Given the description of an element on the screen output the (x, y) to click on. 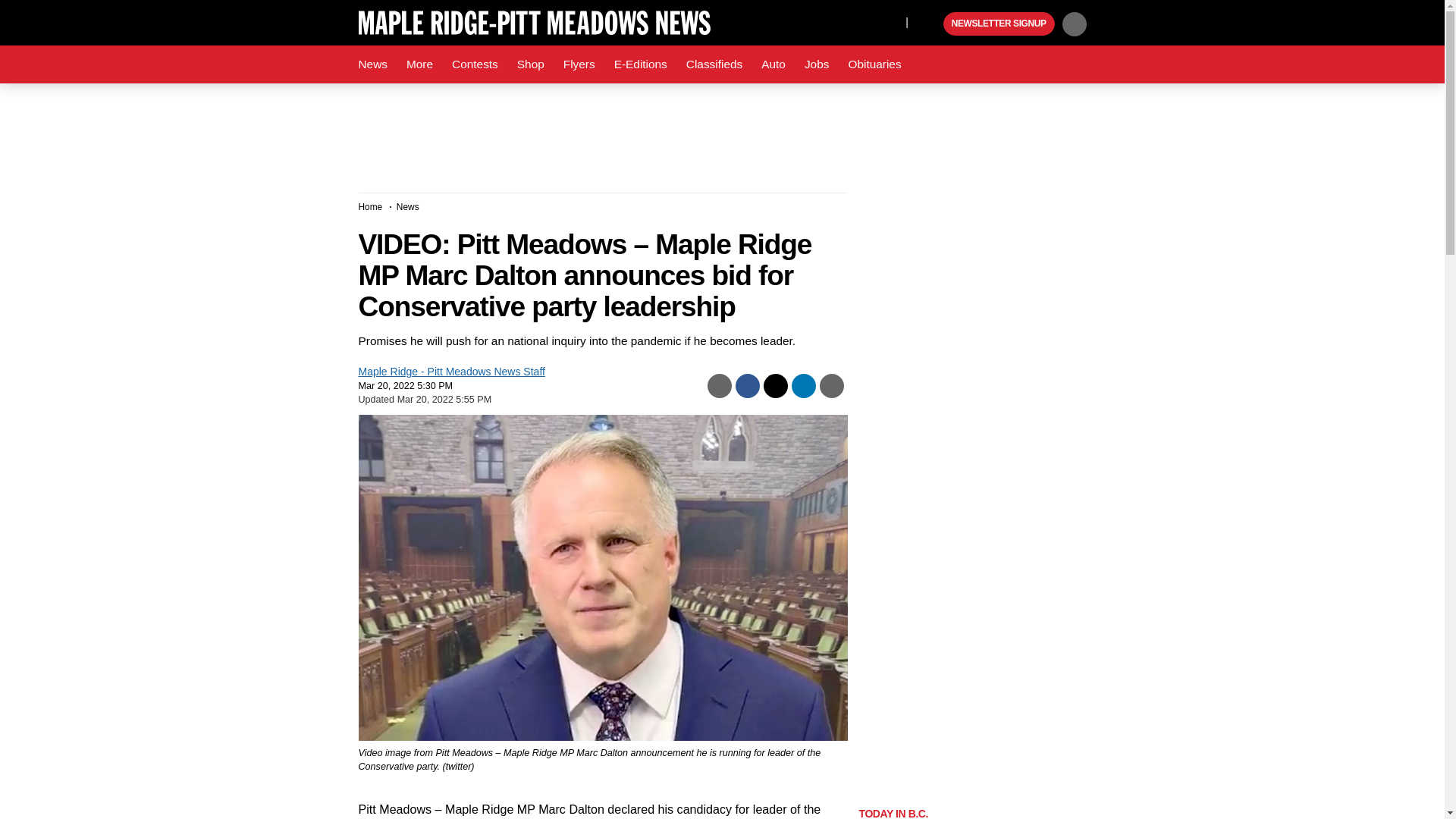
NEWSLETTER SIGNUP (998, 24)
News (372, 64)
X (889, 21)
Play (929, 24)
Black Press Media (929, 24)
